Given the description of an element on the screen output the (x, y) to click on. 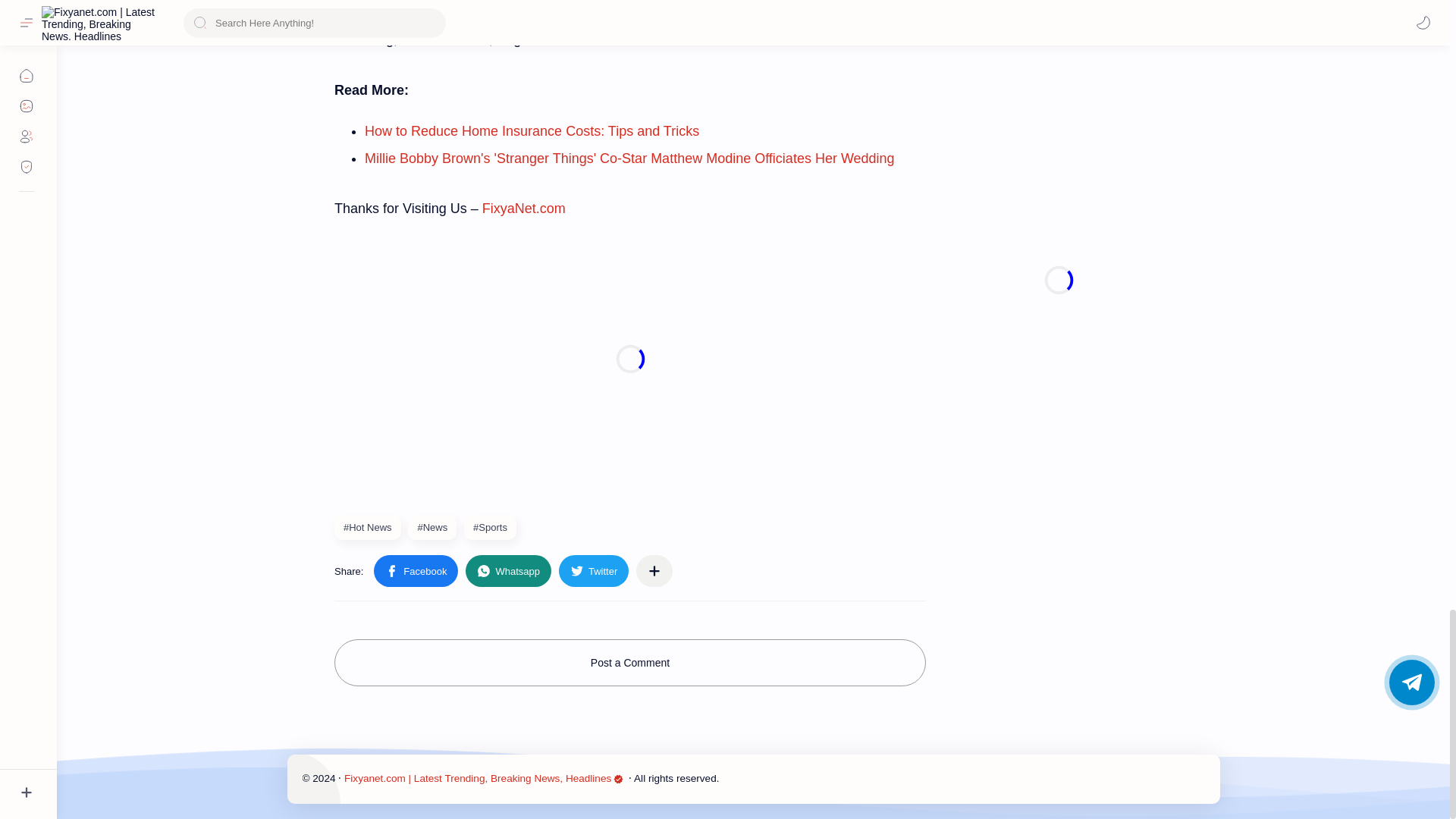
FixyaNet.com (523, 208)
How to Reduce Home Insurance Costs: Tips and Tricks (531, 130)
